Given the description of an element on the screen output the (x, y) to click on. 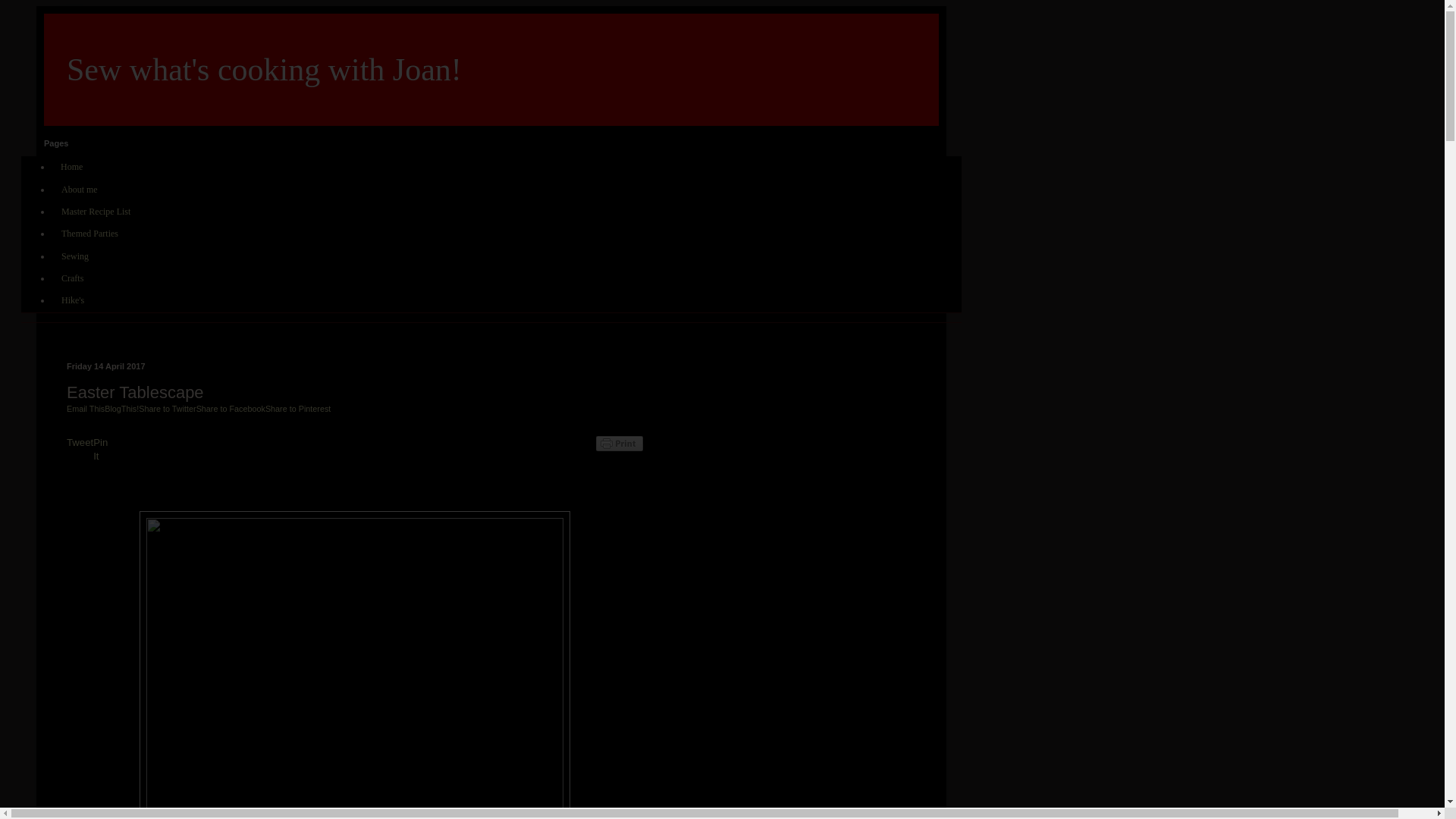
Email This (85, 408)
Share to Pinterest (297, 408)
Tweet (79, 441)
Home (70, 167)
Share to Facebook (230, 408)
Email This (85, 408)
Themed Parties (89, 233)
Sew what's cooking with Joan! (263, 69)
Share to Twitter (166, 408)
Share to Pinterest (297, 408)
